Given the description of an element on the screen output the (x, y) to click on. 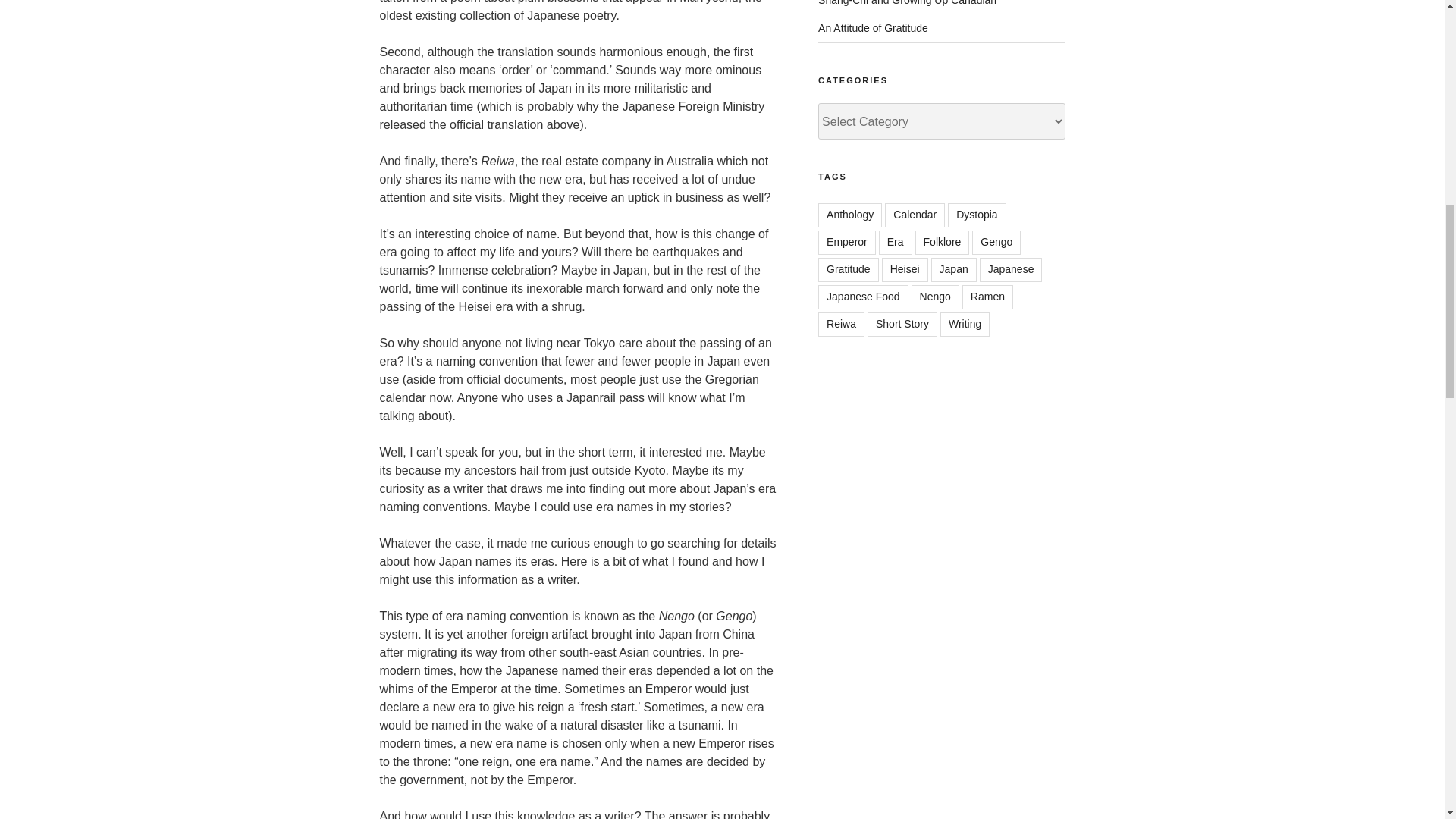
Ramen (987, 297)
Calendar (914, 215)
An Attitude of Gratitude (873, 28)
Dystopia (976, 215)
Shang-Chi and Growing Up Canadian (906, 2)
Short Story (902, 324)
Gengo (996, 242)
Japanese Food (863, 297)
Anthology (850, 215)
Japan (953, 269)
Nengo (935, 297)
Emperor (847, 242)
Reiwa (841, 324)
Era (895, 242)
Heisei (905, 269)
